Given the description of an element on the screen output the (x, y) to click on. 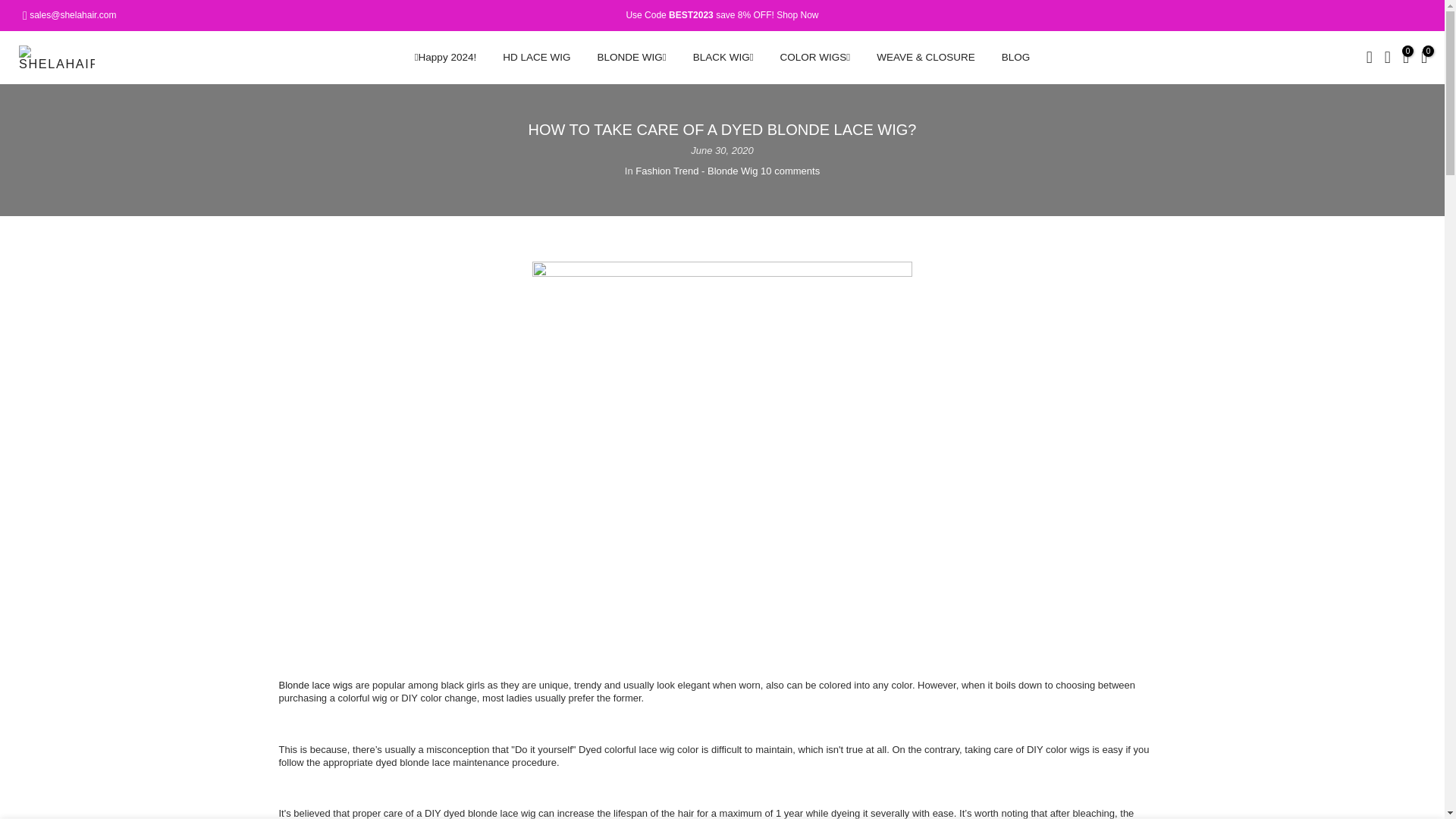
Fashion Trend - Blonde Wig (695, 170)
Blonde lace wigs (317, 685)
BLOG (1015, 57)
0 (1405, 57)
HD LACE WIG (536, 57)
10 comments (789, 170)
Shop Now (797, 14)
